Given the description of an element on the screen output the (x, y) to click on. 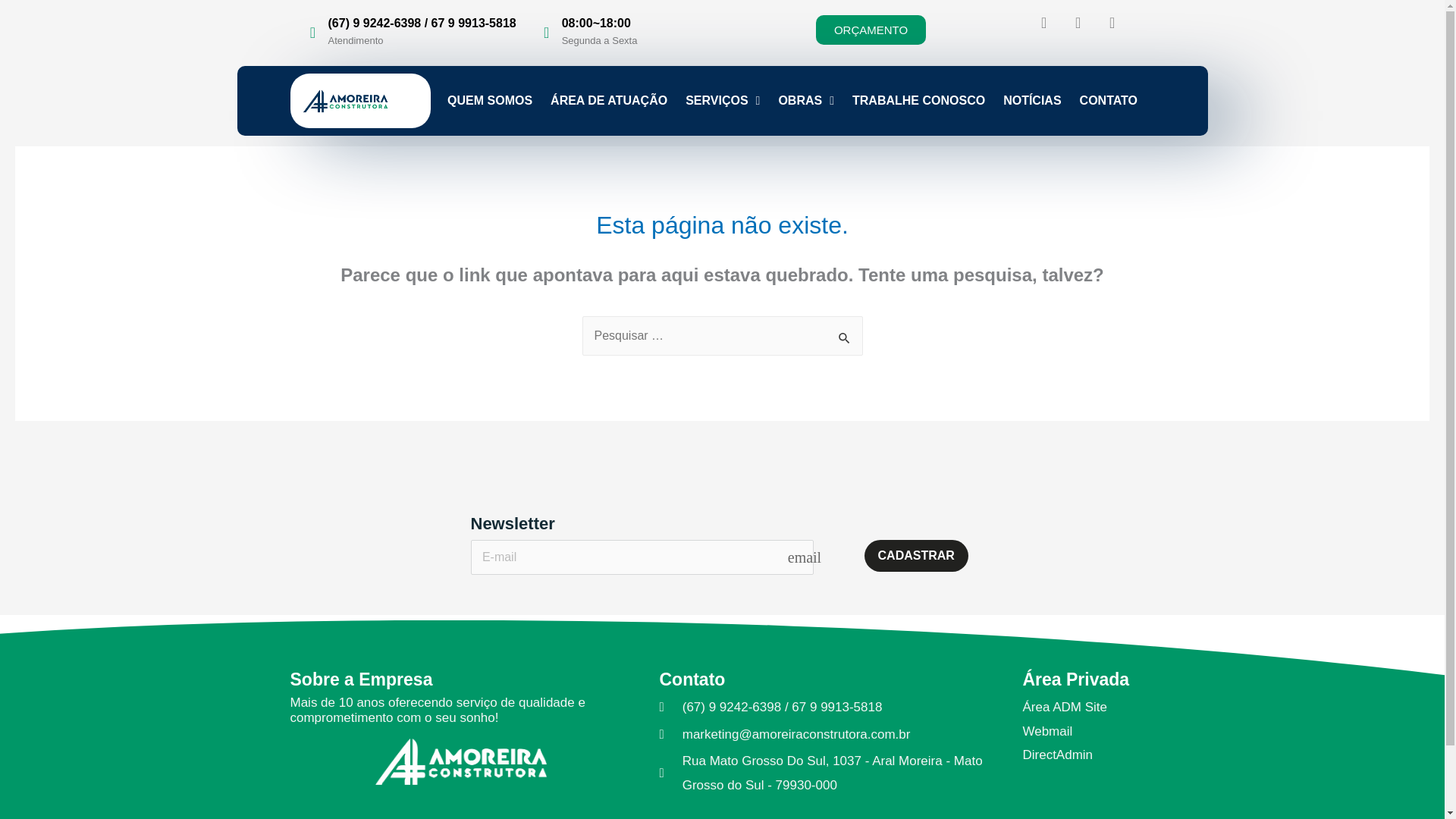
TRABALHE CONOSCO (918, 100)
OBRAS (805, 100)
QUEM SOMOS (489, 100)
CONTATO (1108, 100)
